Given the description of an element on the screen output the (x, y) to click on. 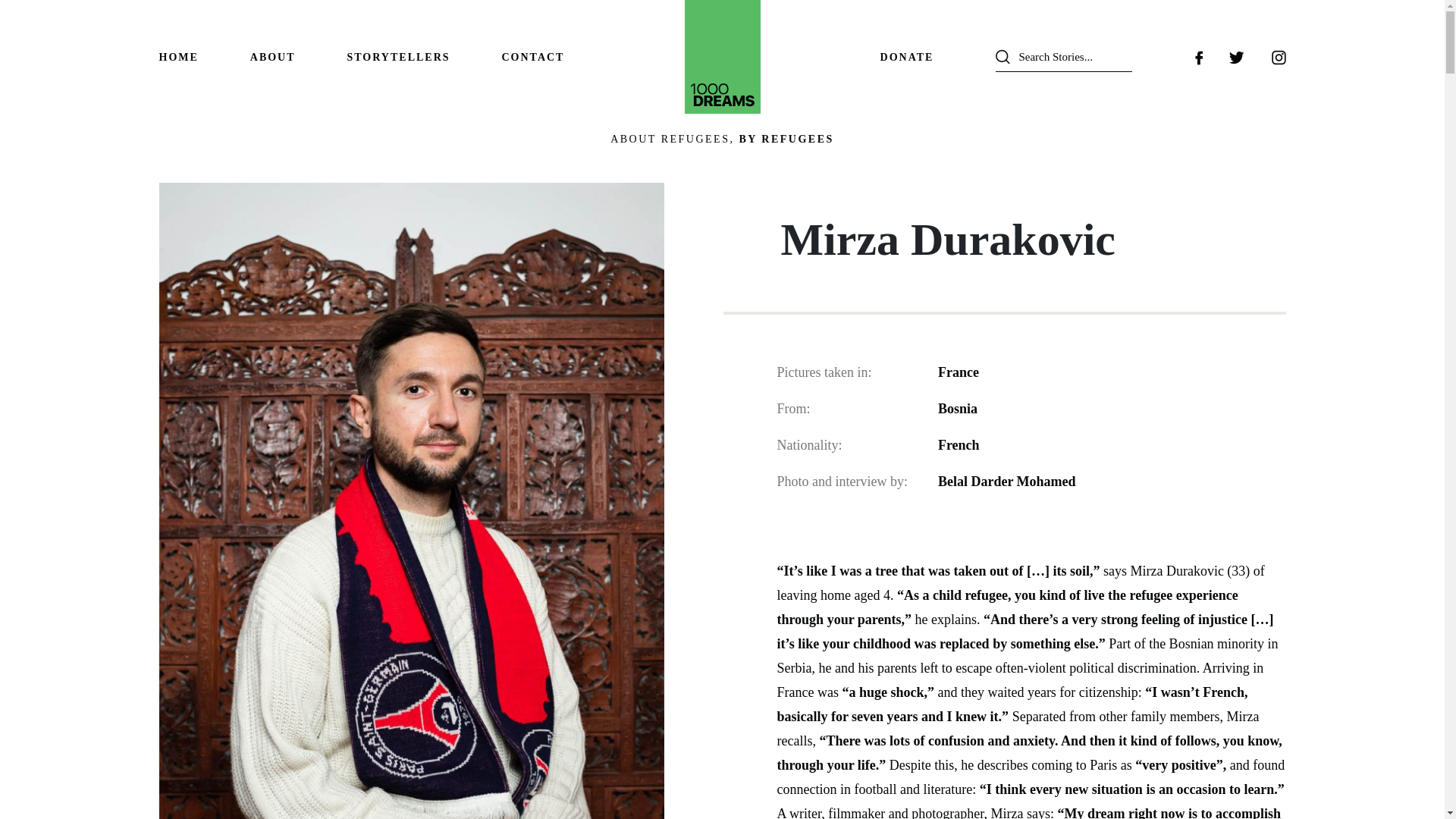
ABOUT (272, 57)
DONATE (907, 57)
HOME (178, 57)
STORYTELLERS (397, 57)
CONTACT (532, 57)
